Given the description of an element on the screen output the (x, y) to click on. 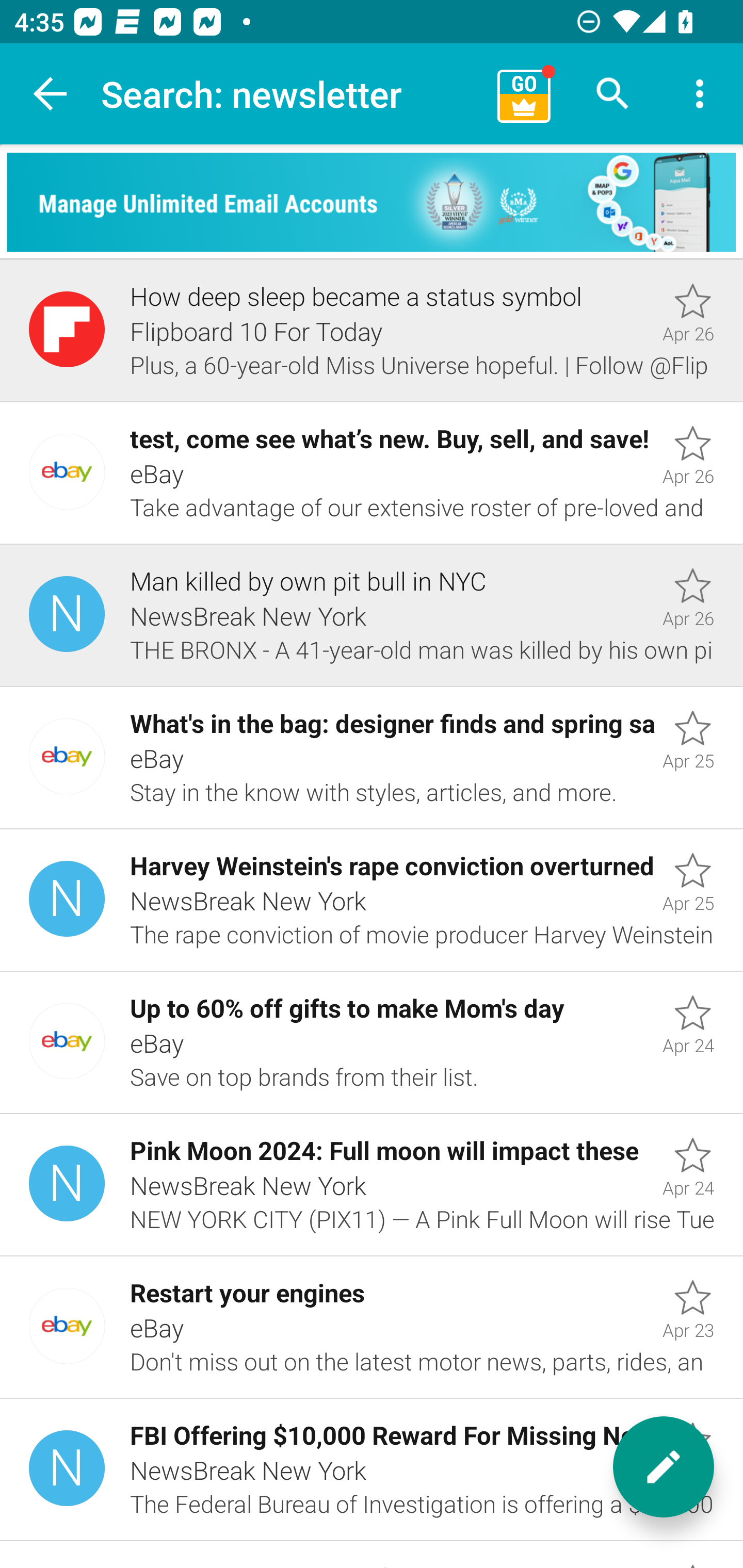
Navigate up (50, 93)
Search (612, 93)
More options (699, 93)
New message (663, 1466)
